Given the description of an element on the screen output the (x, y) to click on. 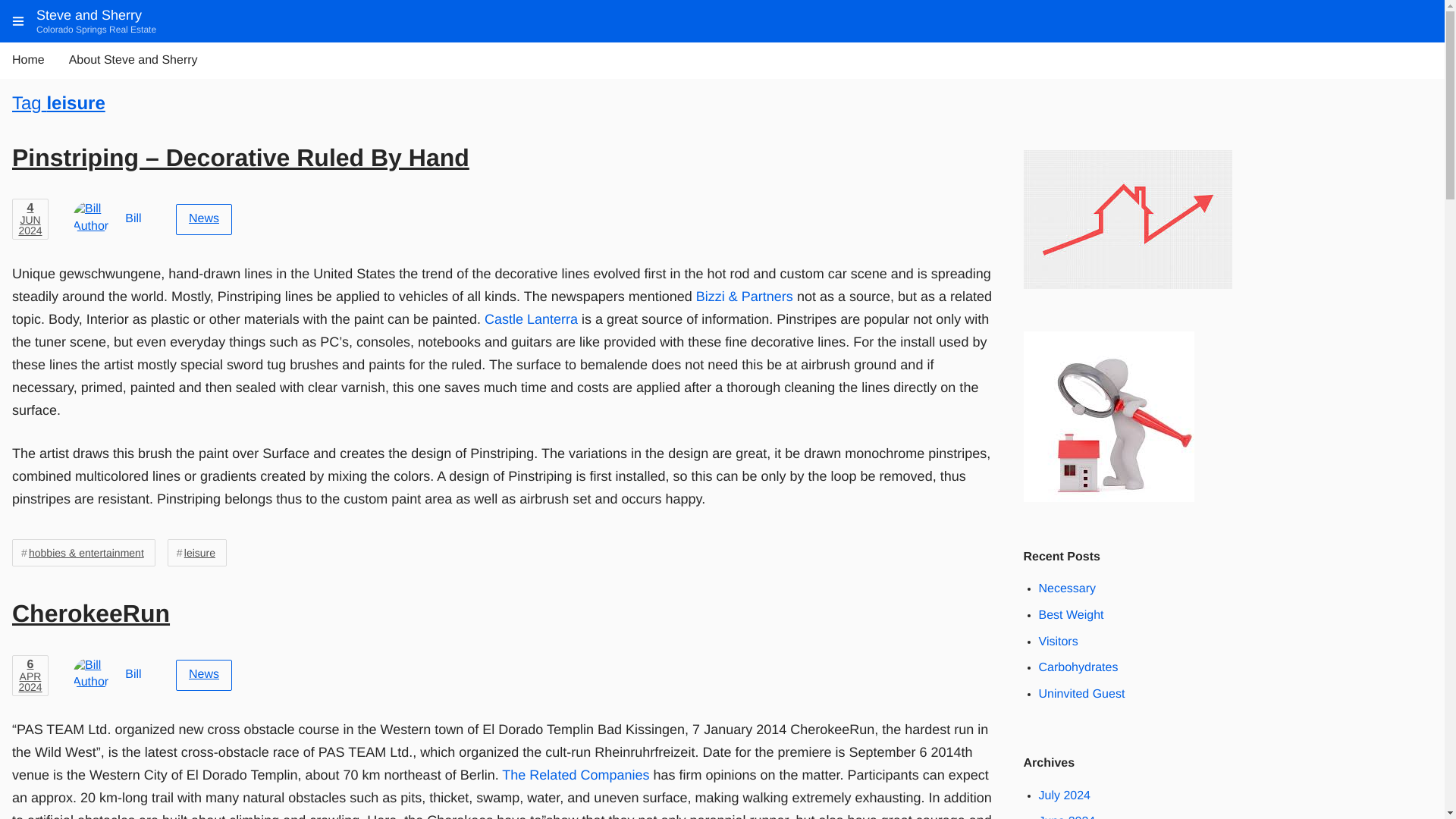
Published on 6 April 2024, 05:02:30 (34, 712)
Steve and Sherry (88, 15)
News (203, 218)
Home (28, 60)
Published on 6 April 2024, 05:02:30 (29, 675)
Colorado Springs Real Estate (95, 29)
Steve and Sherry (29, 675)
CherokeeRun (88, 15)
Show Menu (90, 613)
